Given the description of an element on the screen output the (x, y) to click on. 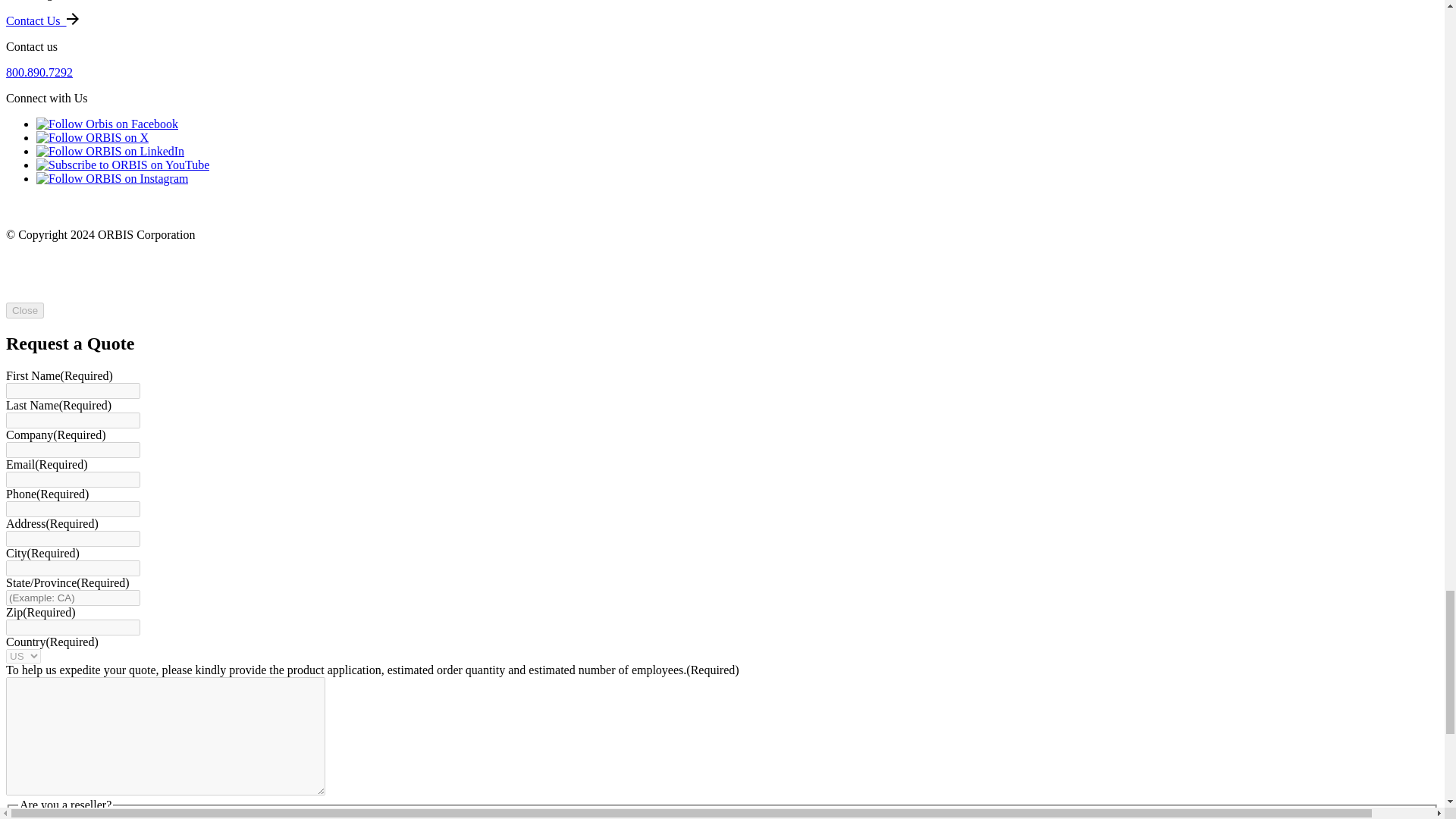
Follow Orbis on Facebook (106, 123)
Follow ORBIS on LinkedIn (110, 151)
Follow ORBIS on X (92, 137)
